Given the description of an element on the screen output the (x, y) to click on. 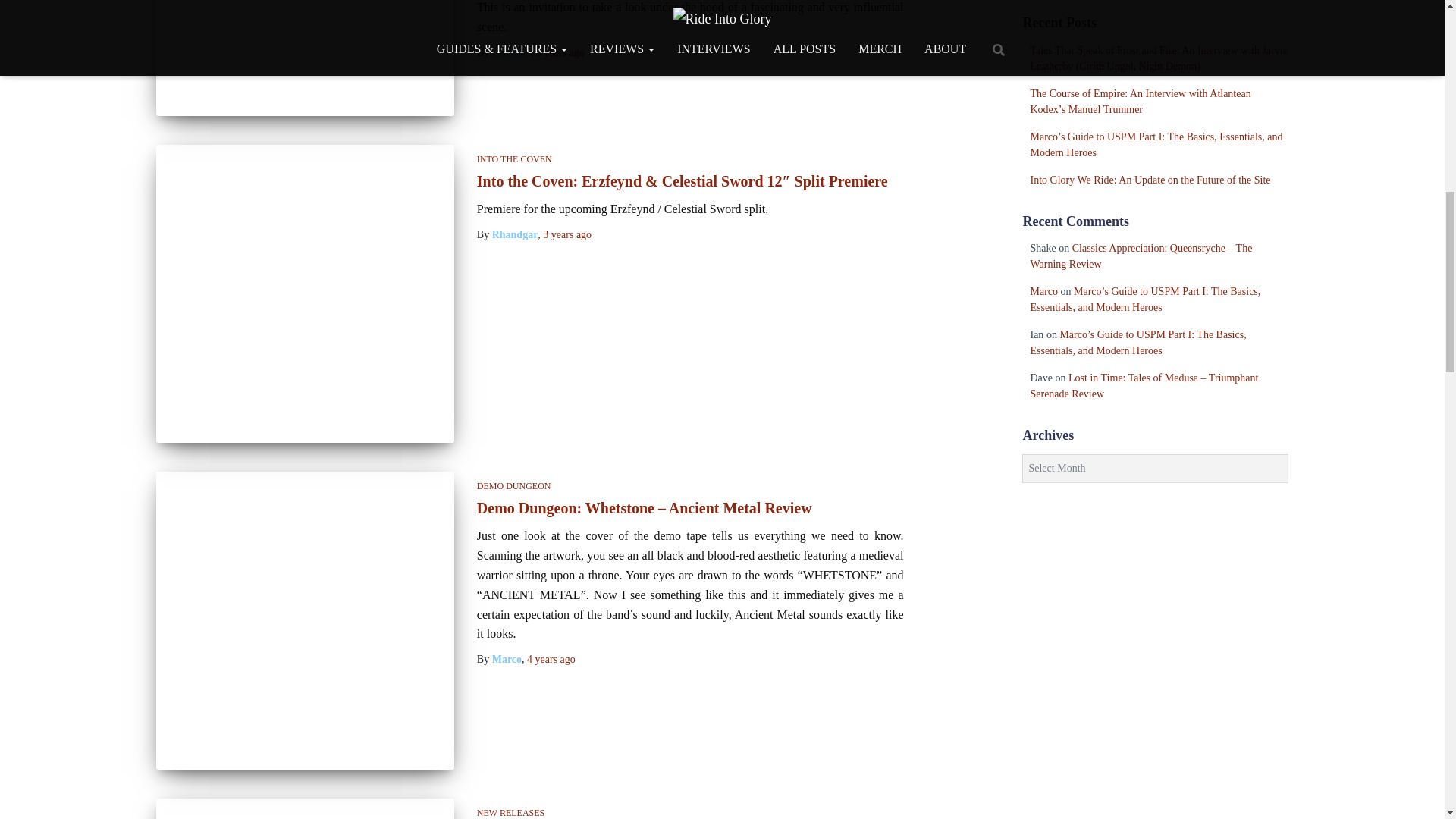
INTO THE COVEN (514, 158)
Quorton (511, 52)
3 years ago (560, 52)
